Given the description of an element on the screen output the (x, y) to click on. 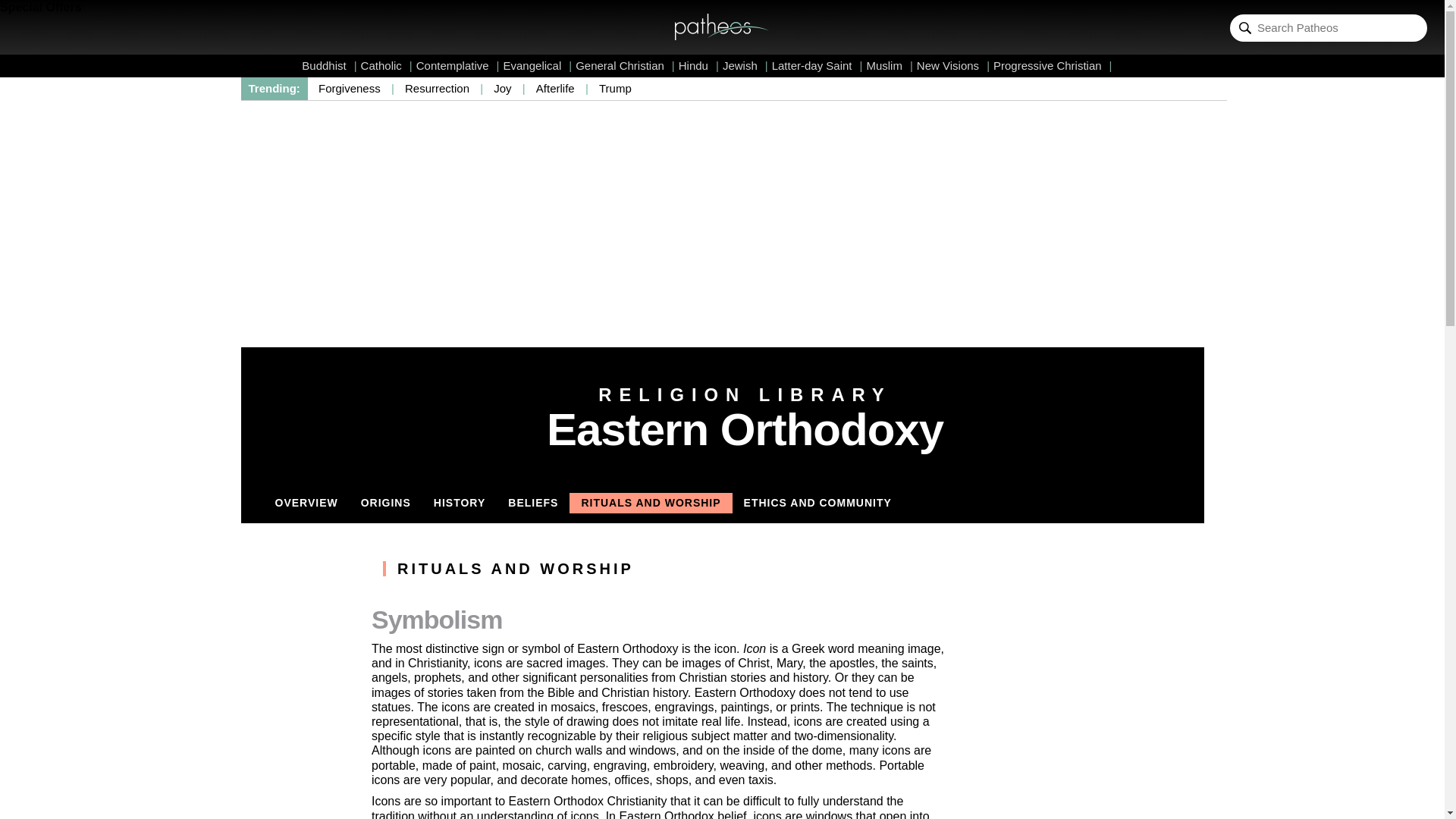
New Visions (953, 65)
Buddhist (328, 65)
Jewish (745, 65)
Muslim (889, 65)
Catholic (386, 65)
General Christian (625, 65)
Latter-day Saint (817, 65)
Evangelical (537, 65)
Progressive Christian (1052, 65)
Contemplative (457, 65)
Special Offers (40, 6)
Hindu (698, 65)
